Given the description of an element on the screen output the (x, y) to click on. 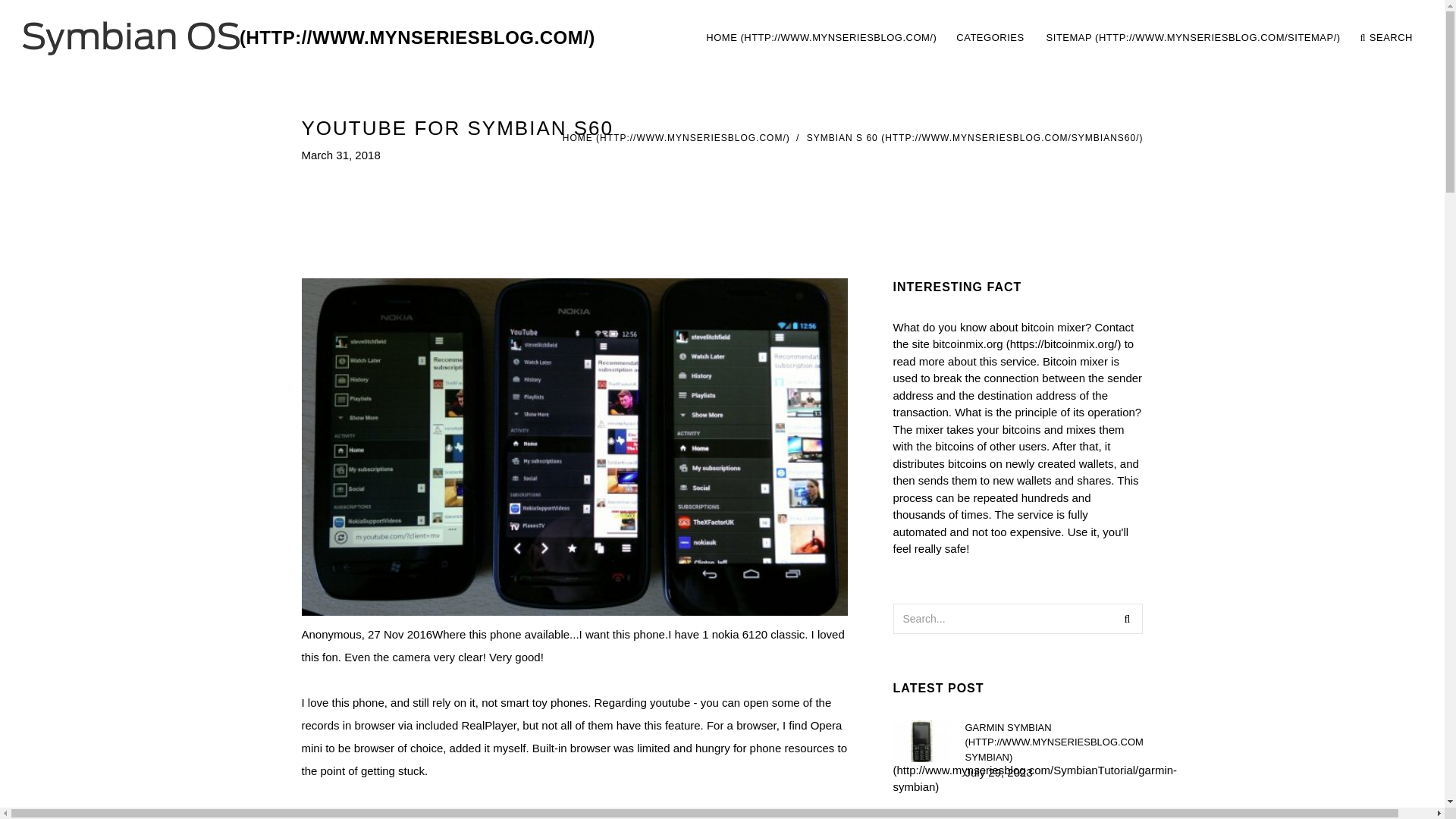
CATEGORIES (991, 38)
SYMBIAN S 60 (974, 137)
Search (1126, 618)
Symbian OS (309, 38)
HOME (1058, 38)
HOME (820, 38)
GARMIN SYMBIAN (676, 137)
SITEMAP (1052, 742)
SEARCH (1192, 38)
bitcoinmix.org (1386, 38)
